Given the description of an element on the screen output the (x, y) to click on. 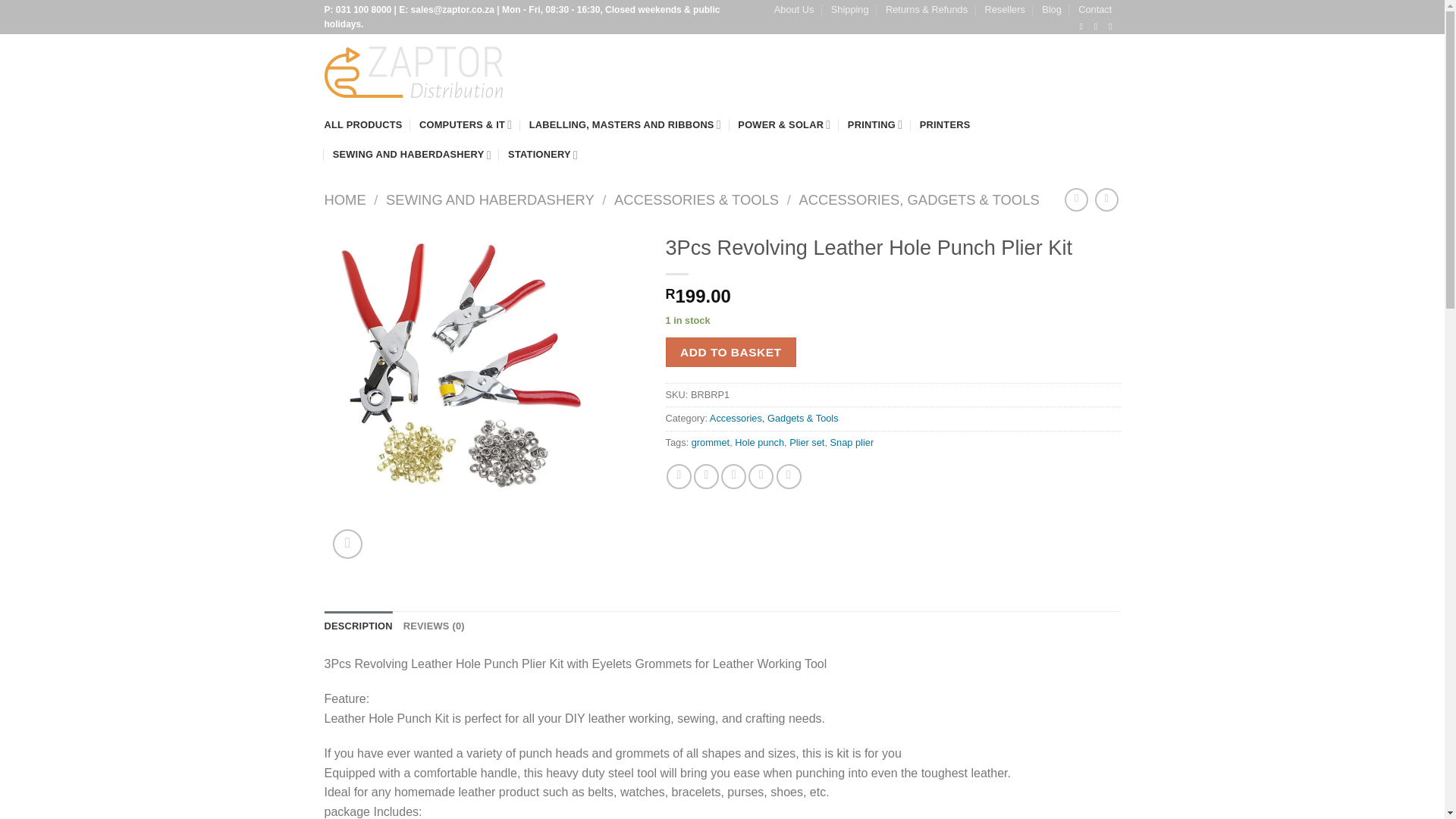
Shipping (850, 9)
Share on Facebook (678, 476)
Resellers (1004, 9)
LABELLING, MASTERS AND RIBBONS (624, 124)
Contact (1095, 9)
Share on Twitter (706, 476)
Zoom (347, 543)
Basket (1072, 71)
Blog (1051, 9)
Login (957, 71)
ALL PRODUCTS (363, 124)
About Us (793, 9)
Search (875, 72)
